Given the description of an element on the screen output the (x, y) to click on. 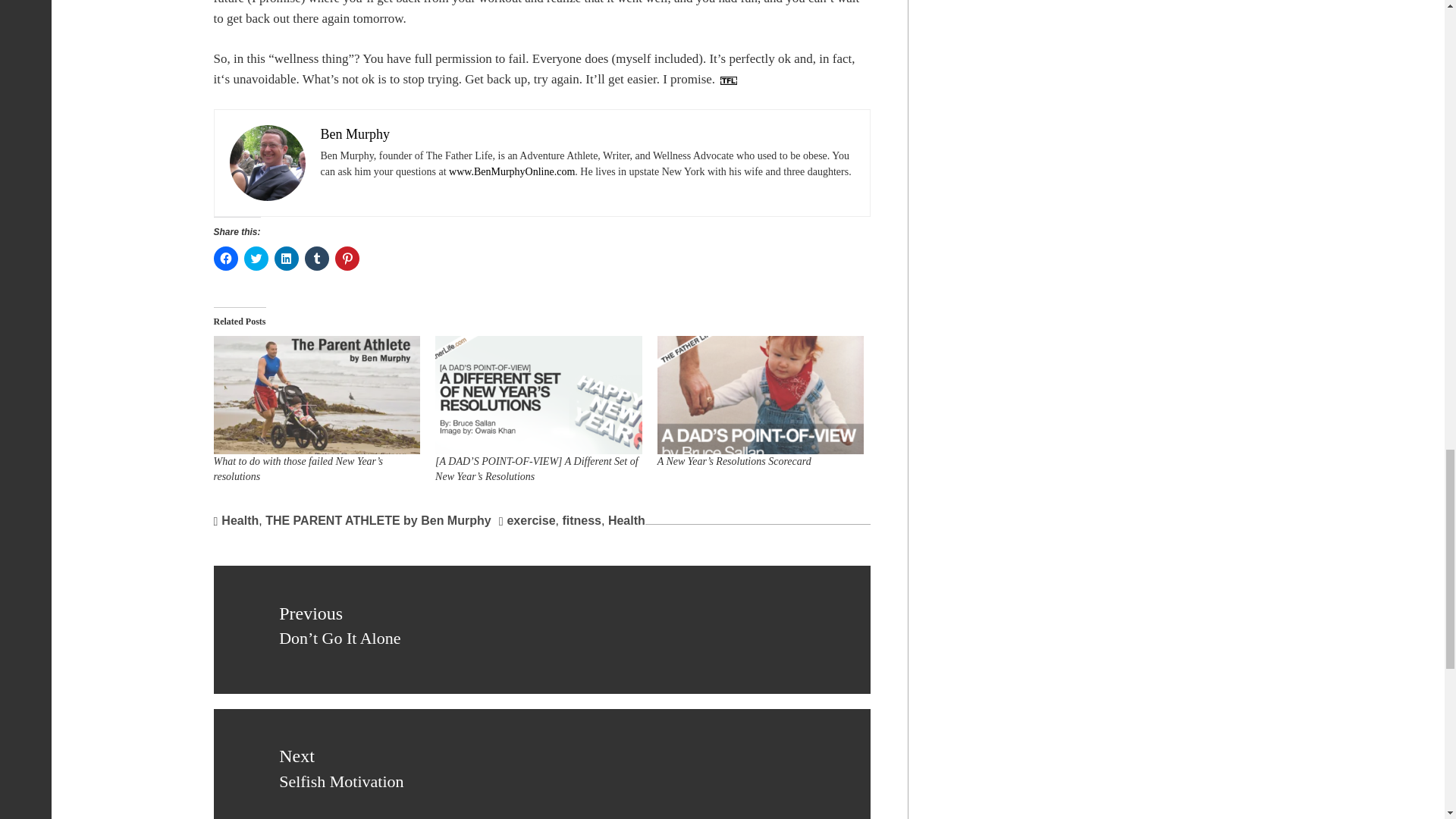
Click to share on Facebook (226, 258)
Click to share on LinkedIn (286, 258)
Click to share on Tumblr (316, 258)
www.BenMurphyOnline.com (511, 171)
Click to share on Twitter (255, 258)
Ben Murphy (355, 133)
Click to share on Pinterest (346, 258)
